Given the description of an element on the screen output the (x, y) to click on. 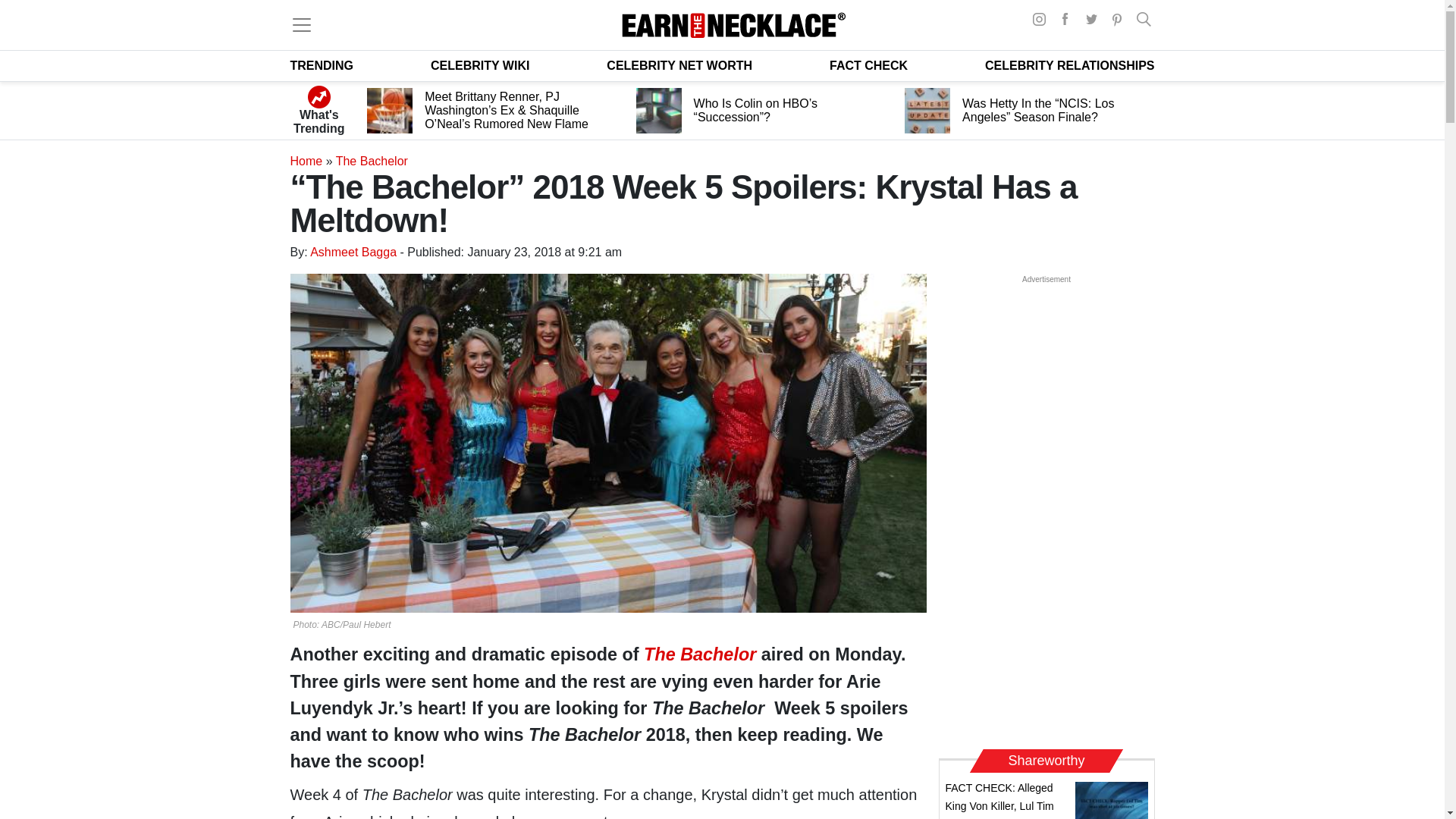
FACT CHECK (868, 65)
The Bachelor (371, 160)
TRENDING (321, 65)
Ashmeet Bagga (353, 251)
CELEBRITY WIKI (479, 65)
FACT CHECK: Alleged King Von Killer, Lul Tim Shot Six... (998, 800)
The Bachelor (699, 654)
Home (305, 160)
Posts by Ashmeet Bagga (353, 251)
CELEBRITY RELATIONSHIPS (1069, 65)
CELEBRITY NET WORTH (679, 65)
Menu (301, 24)
